Given the description of an element on the screen output the (x, y) to click on. 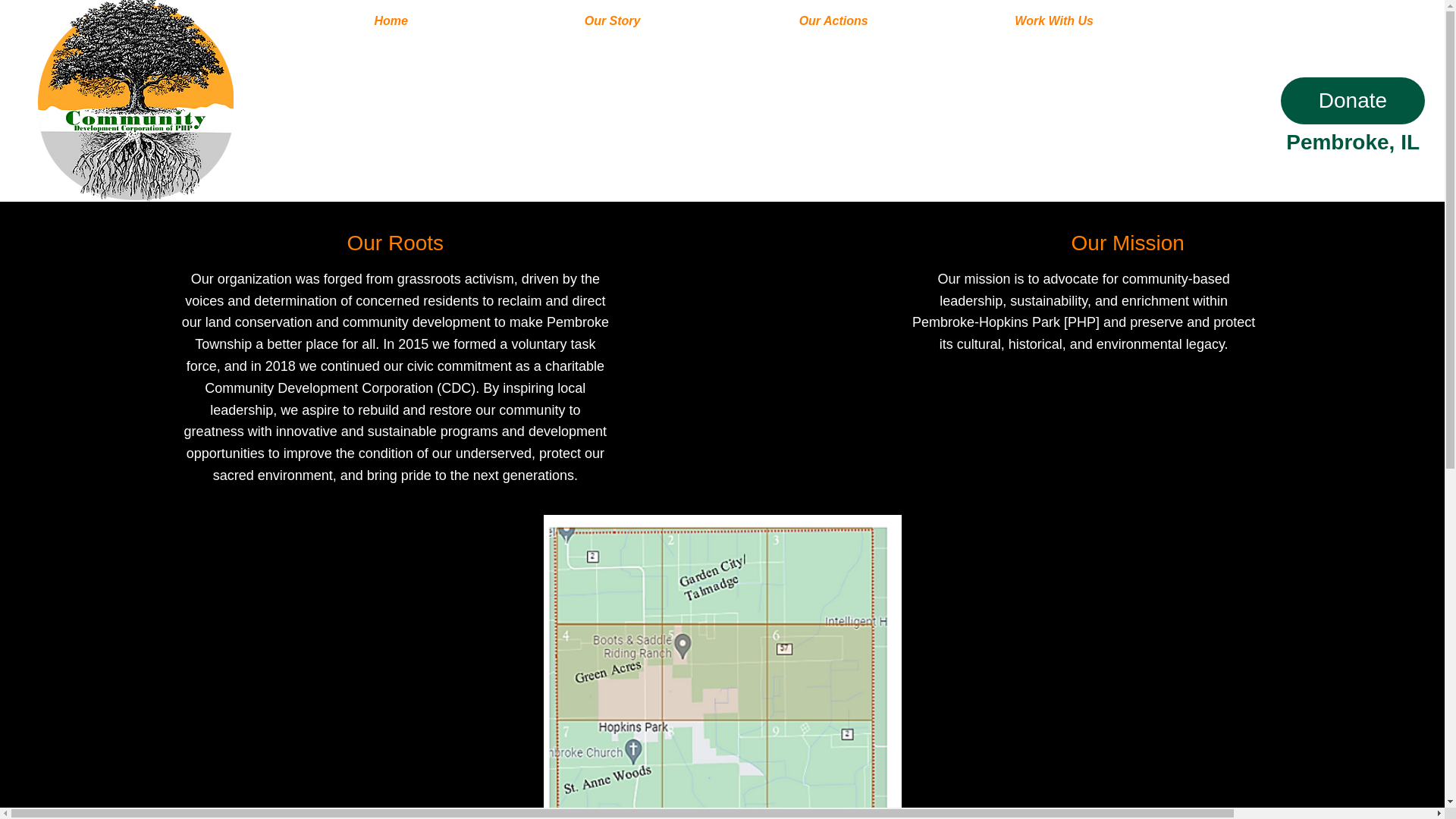
Donate (1353, 100)
Home (391, 25)
Our Story (612, 25)
Work With Us (1053, 25)
